Given the description of an element on the screen output the (x, y) to click on. 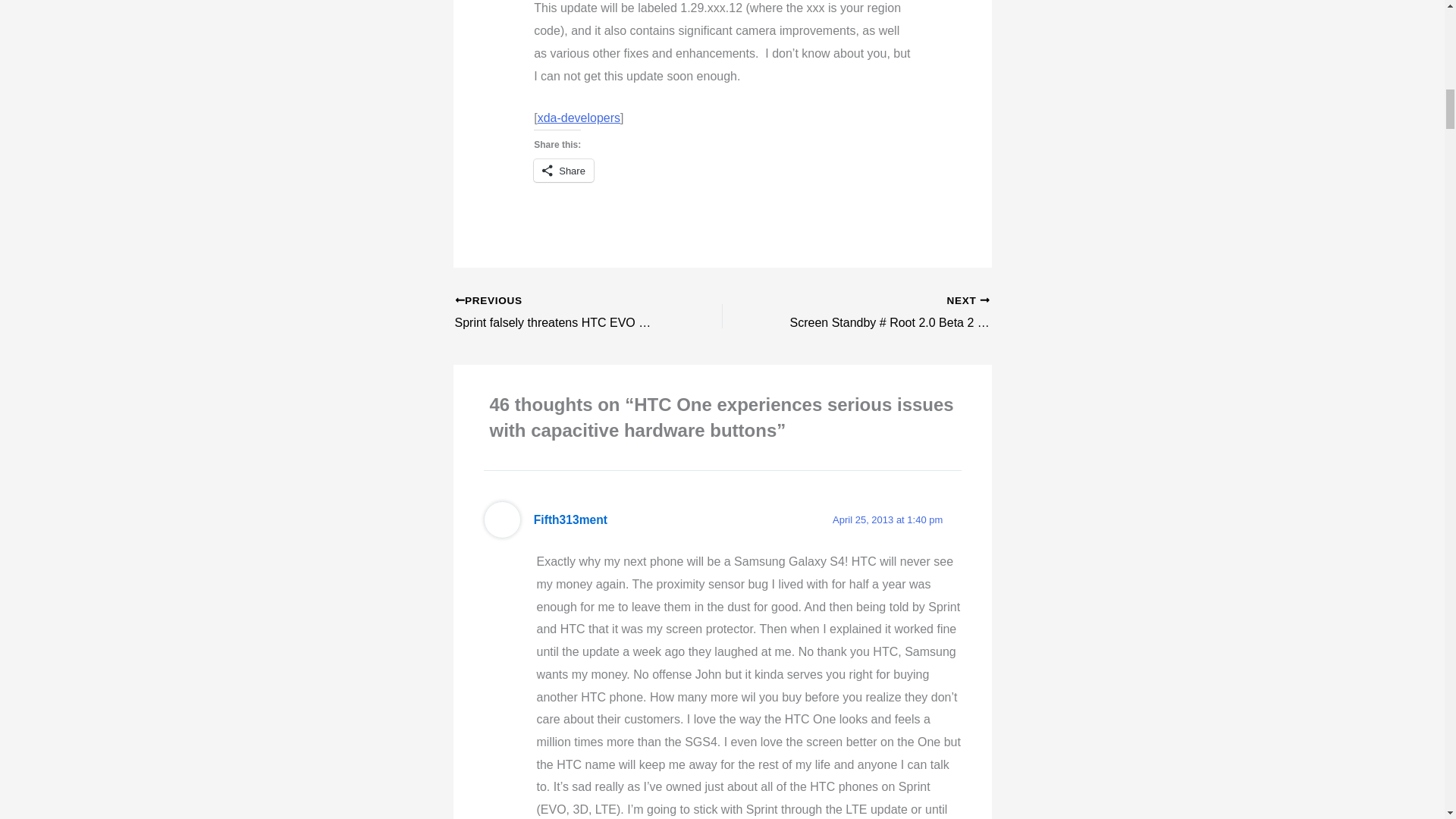
Sprint falsely threatens HTC EVO owners with roaming charges (561, 312)
